Given the description of an element on the screen output the (x, y) to click on. 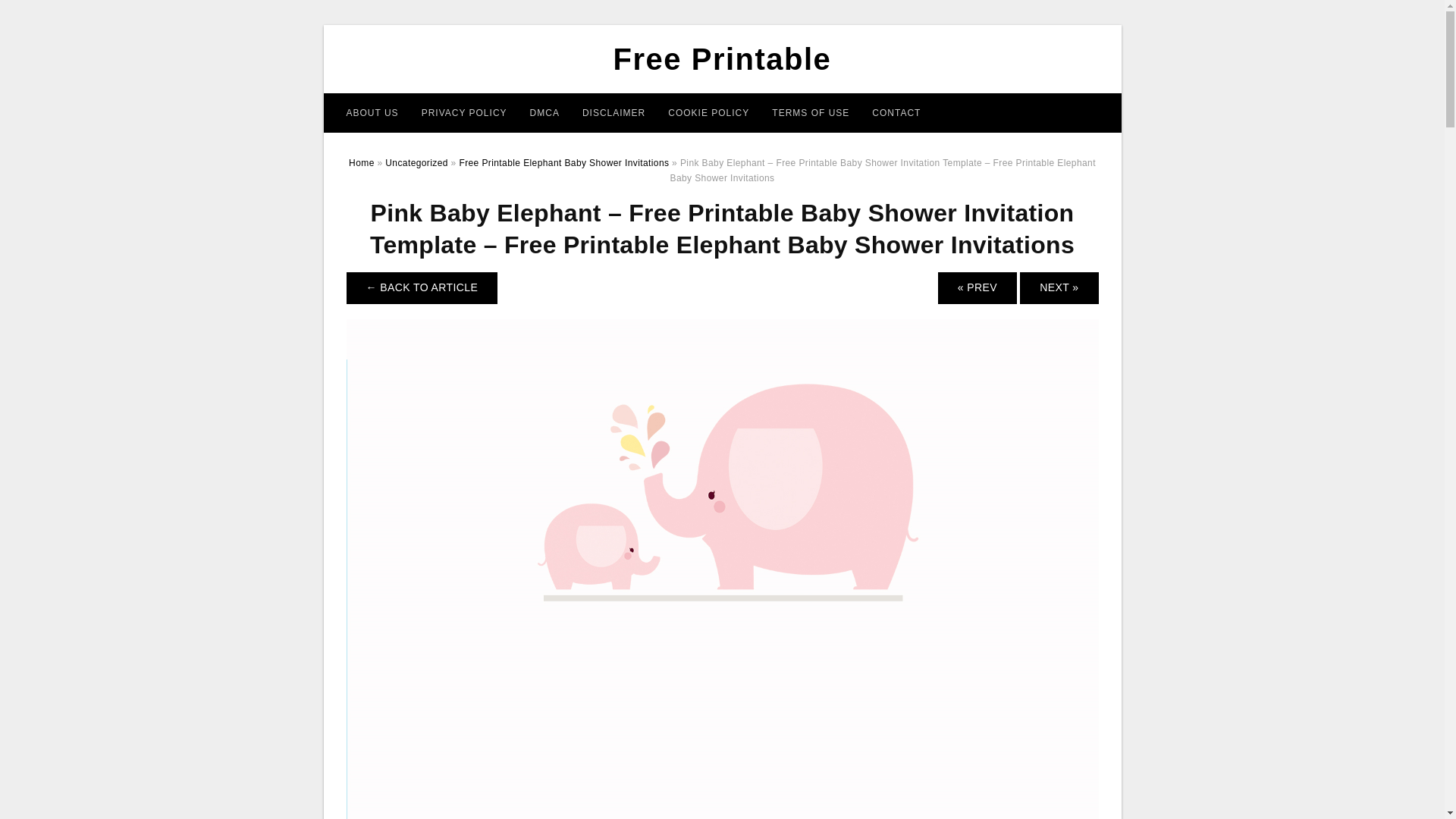
Free Printable Elephant Baby Shower Invitations (563, 163)
DISCLAIMER (613, 112)
Return to Free Printable Elephant Baby Shower Invitations (421, 287)
TERMS OF USE (810, 112)
Home (361, 163)
Free Printable (721, 59)
DMCA (544, 112)
PRIVACY POLICY (464, 112)
ABOUT US (372, 112)
Uncategorized (416, 163)
CONTACT (895, 112)
COOKIE POLICY (708, 112)
